Given the description of an element on the screen output the (x, y) to click on. 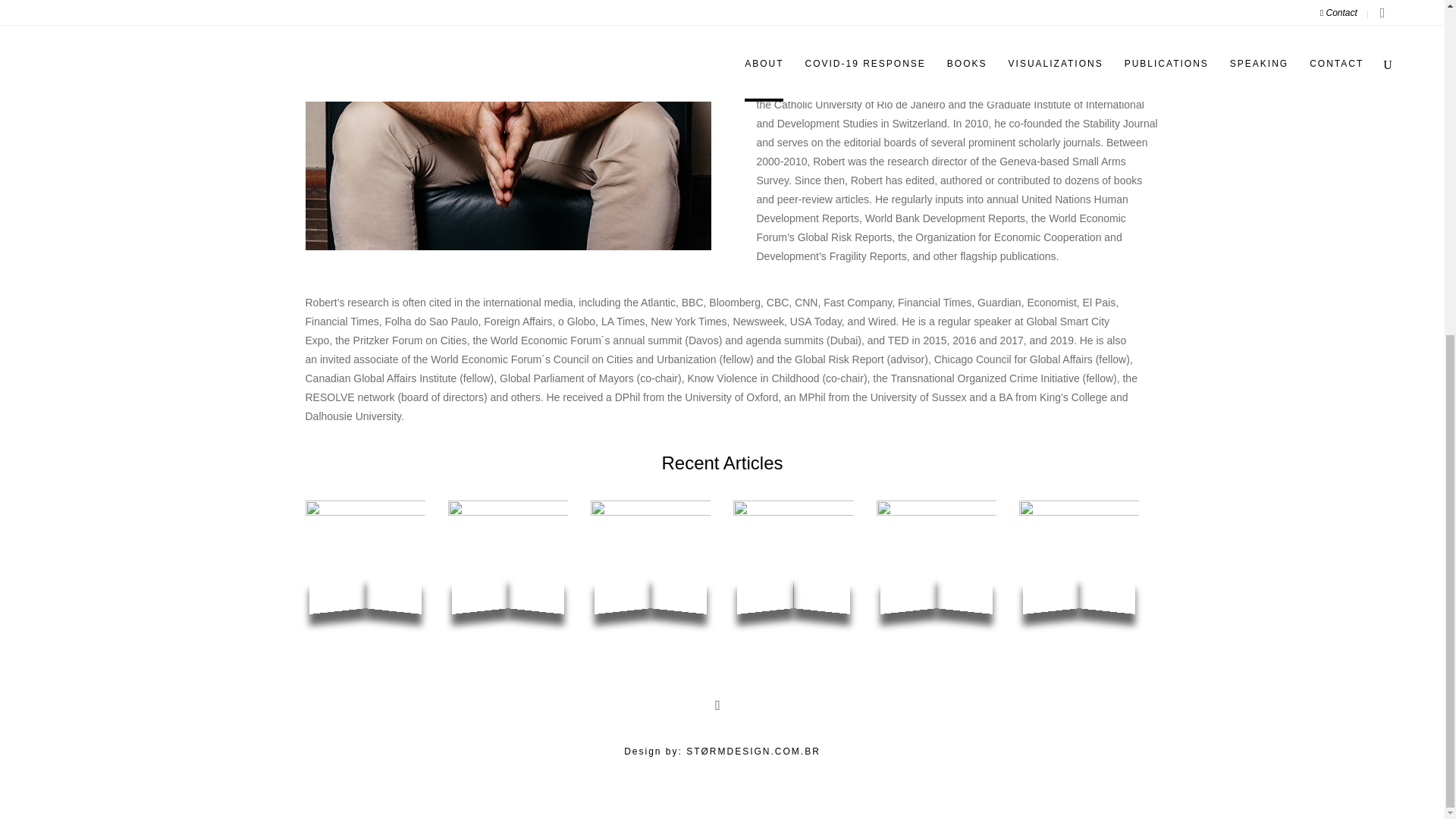
rob-2 (507, 125)
Send (727, 30)
finacial-times (650, 559)
fa (1078, 559)
fp (935, 559)
le-monde (364, 559)
nyt (793, 559)
globe-and-mail (507, 559)
